Given the description of an element on the screen output the (x, y) to click on. 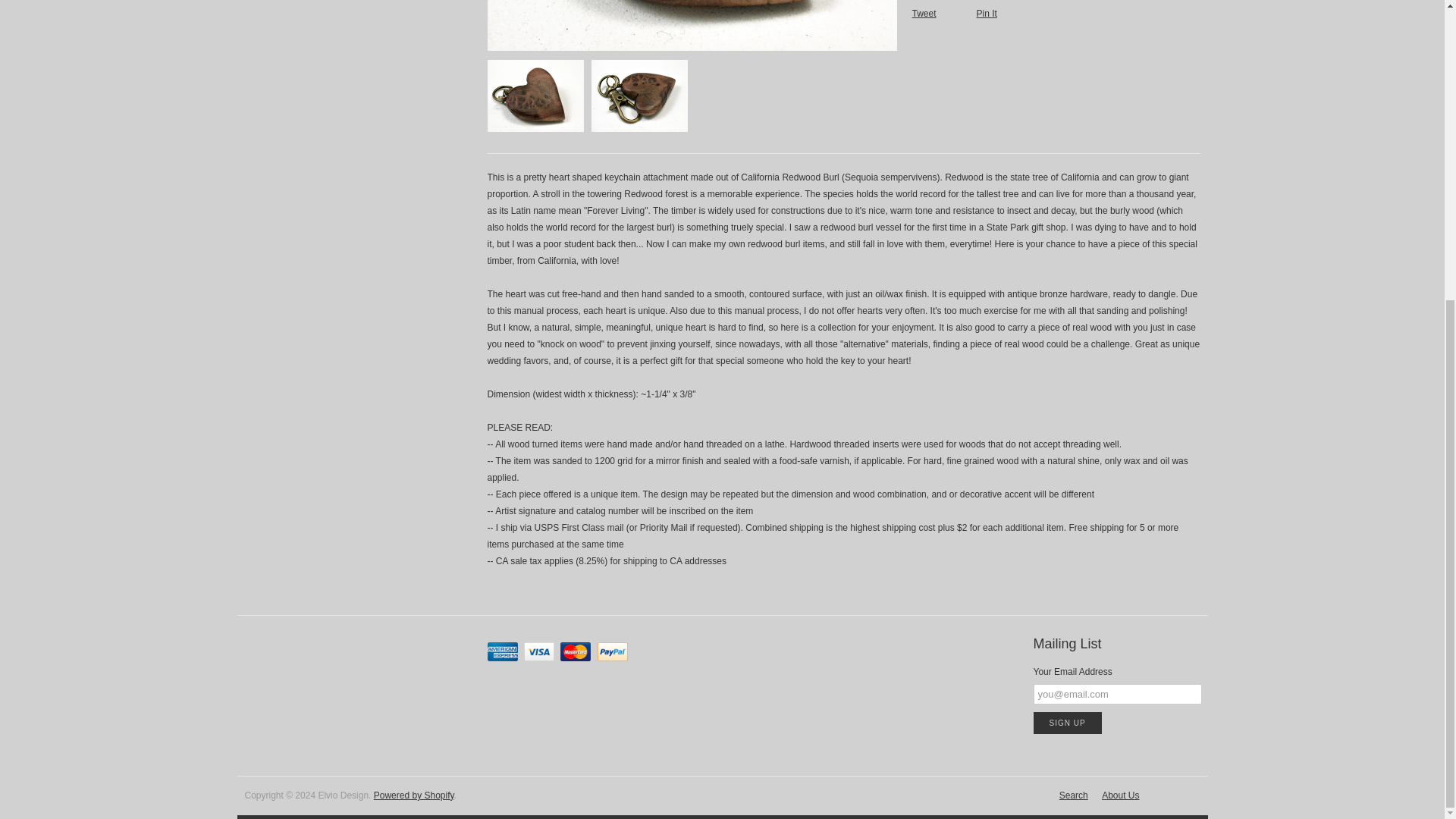
Pin It (986, 13)
Search (1073, 795)
Sign Up (1066, 722)
Search (1073, 795)
Powered by Shopify (414, 795)
Sign Up (1066, 722)
About Us (1120, 795)
Tweet (923, 13)
